Given the description of an element on the screen output the (x, y) to click on. 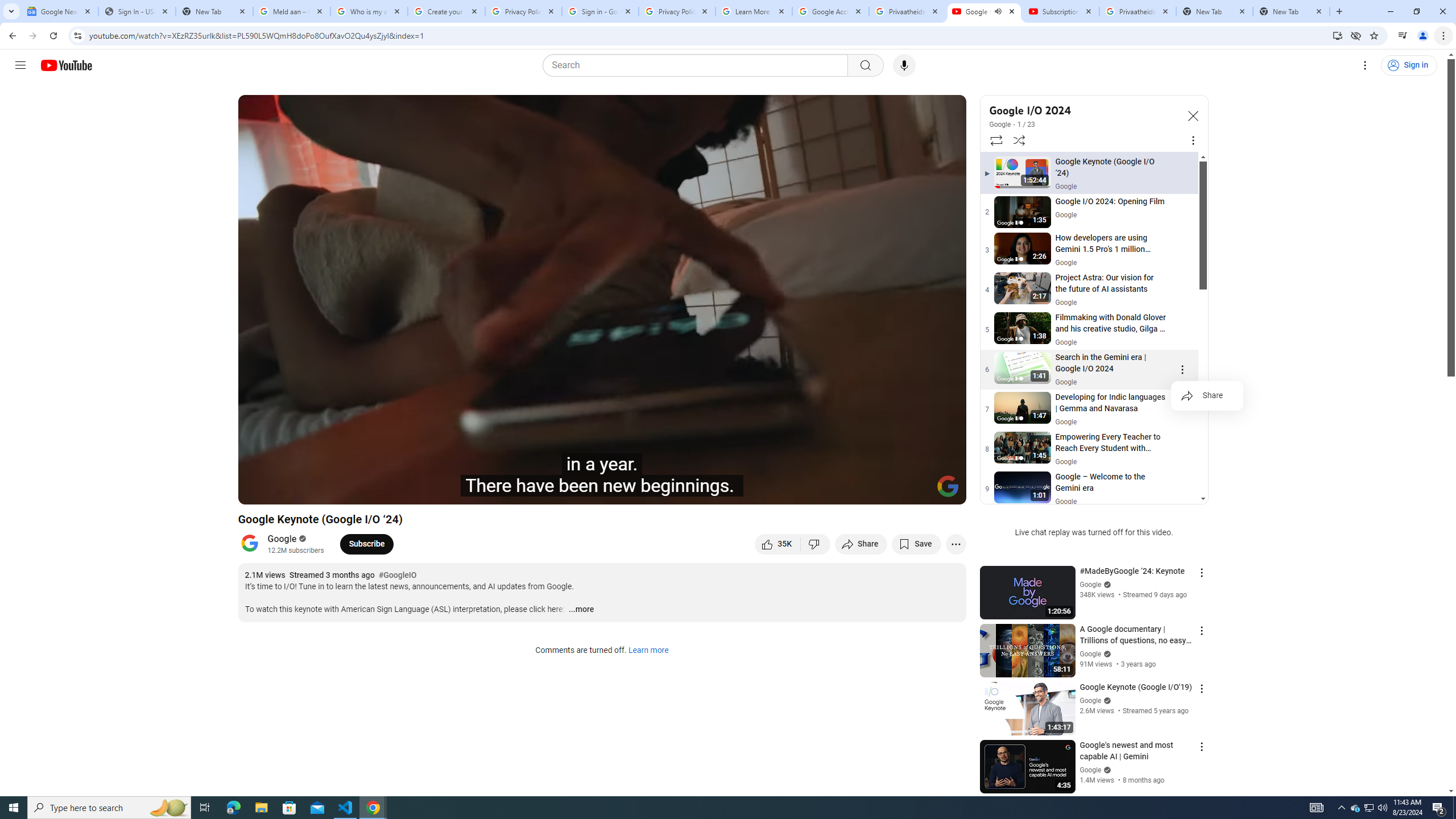
New Tab (1291, 11)
YouTube Home (66, 65)
Sign In - USA TODAY (136, 11)
